Given the description of an element on the screen output the (x, y) to click on. 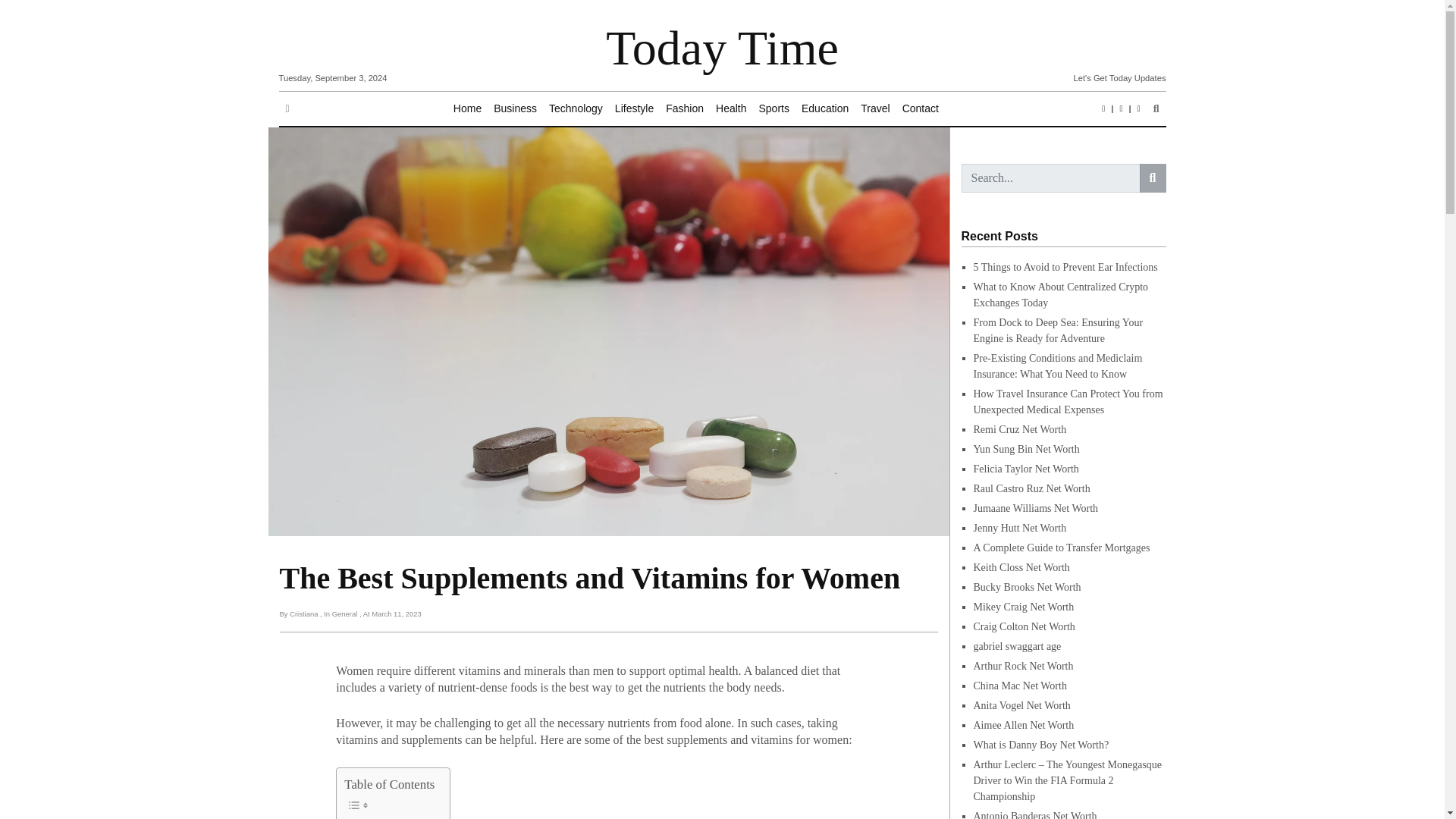
Lifestyle (633, 108)
Sports (773, 108)
Travel (874, 108)
Fashion (684, 108)
Lifestyle (633, 108)
Education (824, 108)
Travel (874, 108)
Fashion (684, 108)
Business (515, 108)
Business (515, 108)
